Given the description of an element on the screen output the (x, y) to click on. 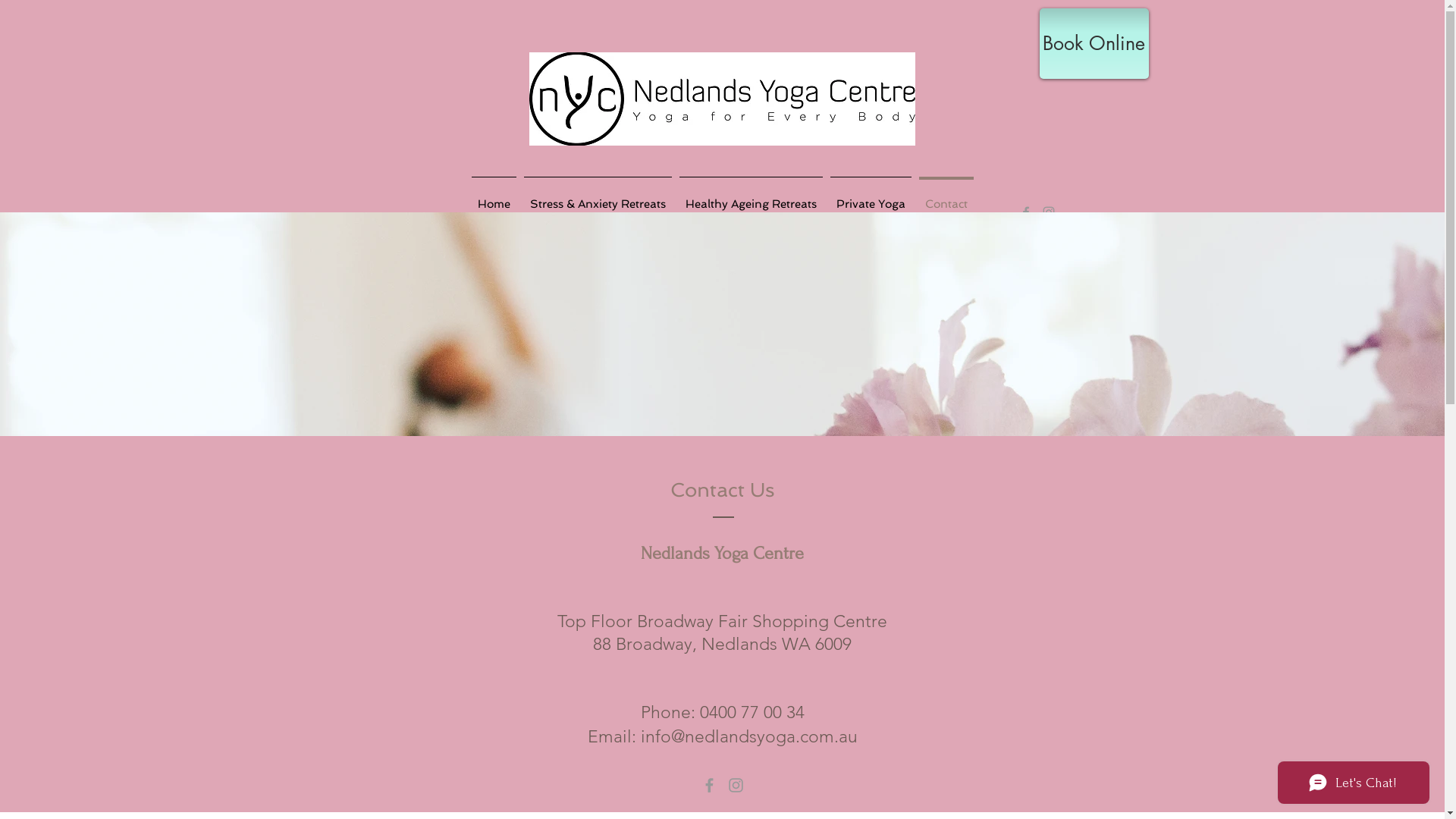
Book Online Element type: text (1093, 43)
Contact Element type: text (945, 196)
Private Yoga Element type: text (870, 196)
Healthy Ageing Retreats Element type: text (749, 196)
Stress & Anxiety Retreats Element type: text (597, 196)
Home Element type: text (493, 196)
info@nedlandsyoga.com.au Element type: text (748, 736)
